Given the description of an element on the screen output the (x, y) to click on. 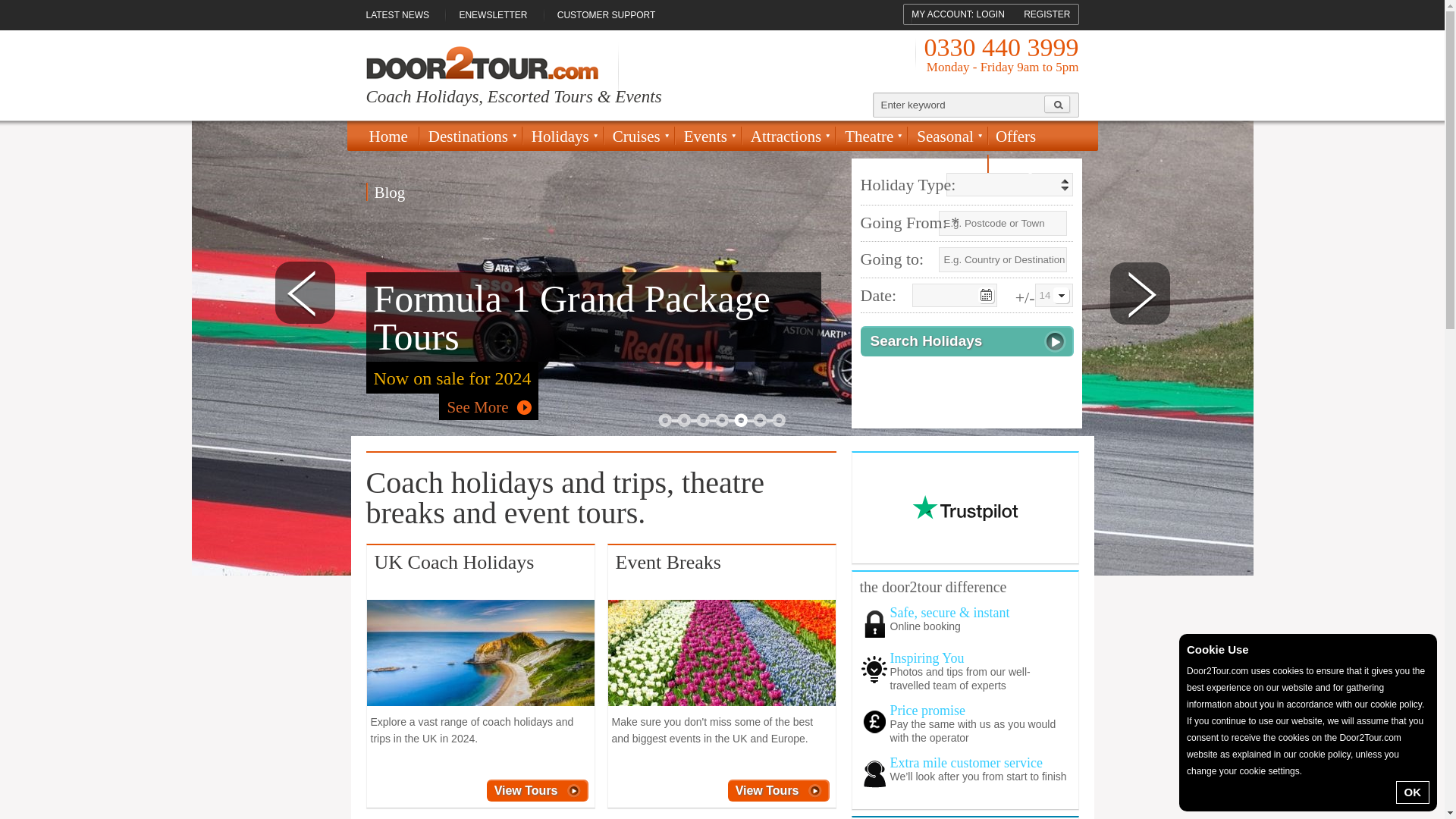
Enter keyword (958, 104)
Customer reviews powered by Trustpilot (965, 508)
LATEST NEWS (403, 15)
CUSTOMER SUPPORT (606, 15)
Destinations (470, 139)
ENEWSLETTER (492, 15)
REGISTER (1046, 14)
LOGIN (989, 14)
Door 2 Tour (480, 62)
Home (391, 135)
Holidays (561, 139)
